Given the description of an element on the screen output the (x, y) to click on. 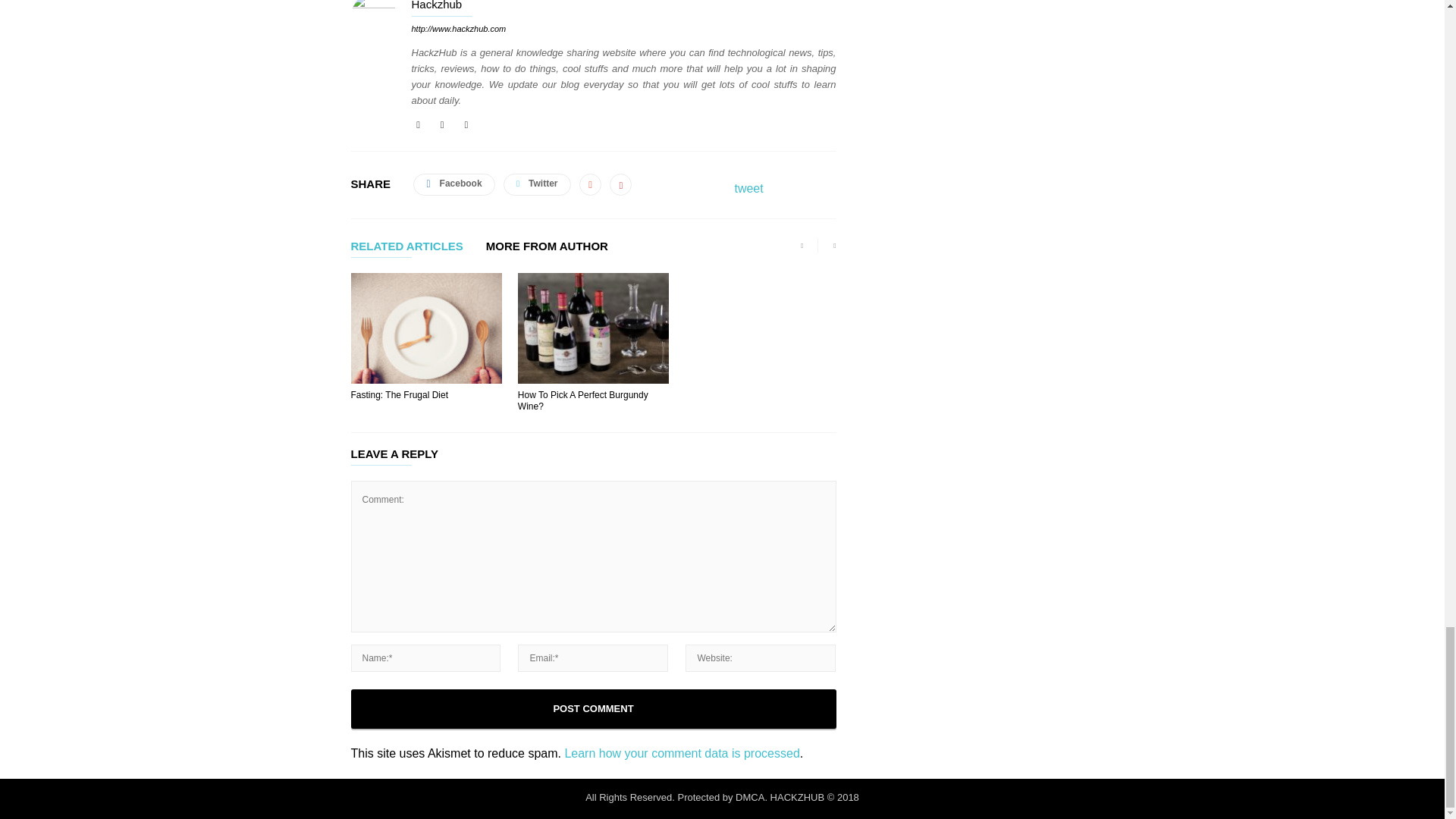
Twitter (466, 124)
Post Comment (592, 708)
Facebook (418, 124)
